Given the description of an element on the screen output the (x, y) to click on. 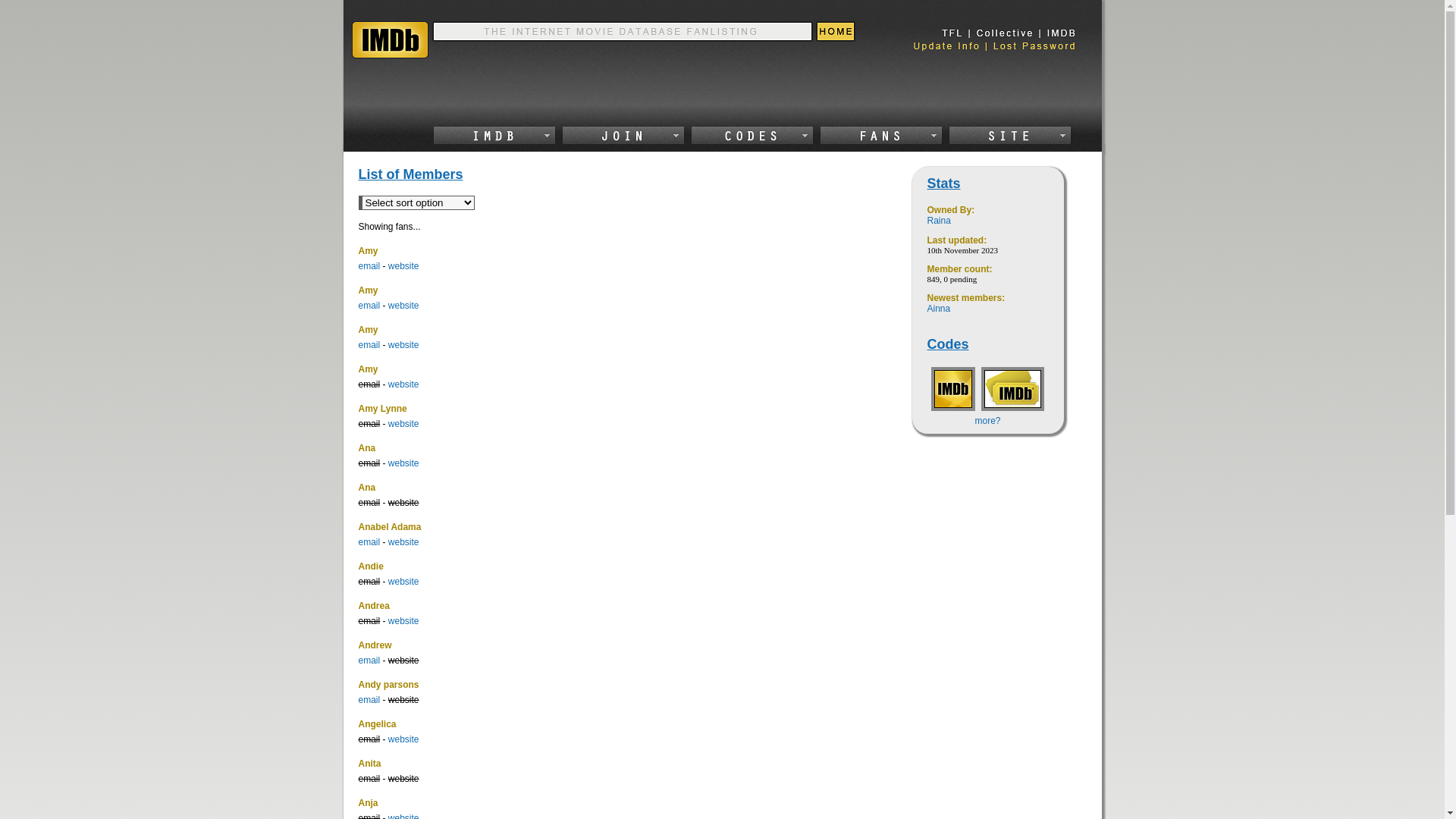
more? Element type: text (987, 420)
email Element type: text (368, 660)
website Element type: text (403, 581)
website Element type: text (403, 265)
email Element type: text (368, 541)
Raina Element type: text (938, 220)
email Element type: text (368, 265)
Ainna Element type: text (938, 308)
website Element type: text (403, 344)
email Element type: text (368, 699)
website Element type: text (403, 739)
website Element type: text (403, 305)
website Element type: text (403, 423)
website Element type: text (403, 463)
website Element type: text (403, 384)
email Element type: text (368, 344)
email Element type: text (368, 305)
website Element type: text (403, 541)
website Element type: text (403, 620)
